Given the description of an element on the screen output the (x, y) to click on. 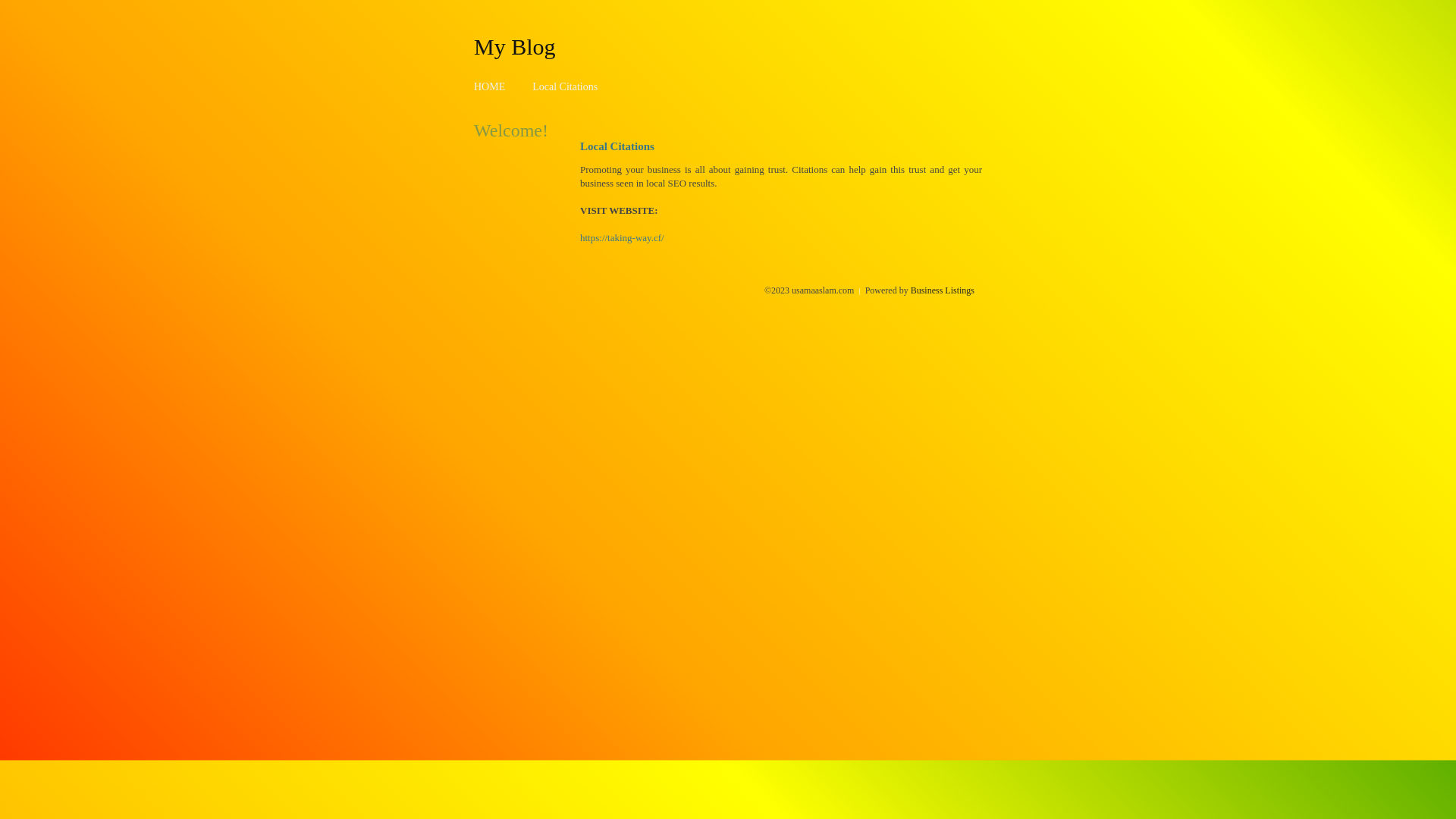
https://taking-way.cf/ Element type: text (622, 237)
Business Listings Element type: text (942, 290)
HOME Element type: text (489, 86)
Local Citations Element type: text (564, 86)
My Blog Element type: text (514, 46)
